Given the description of an element on the screen output the (x, y) to click on. 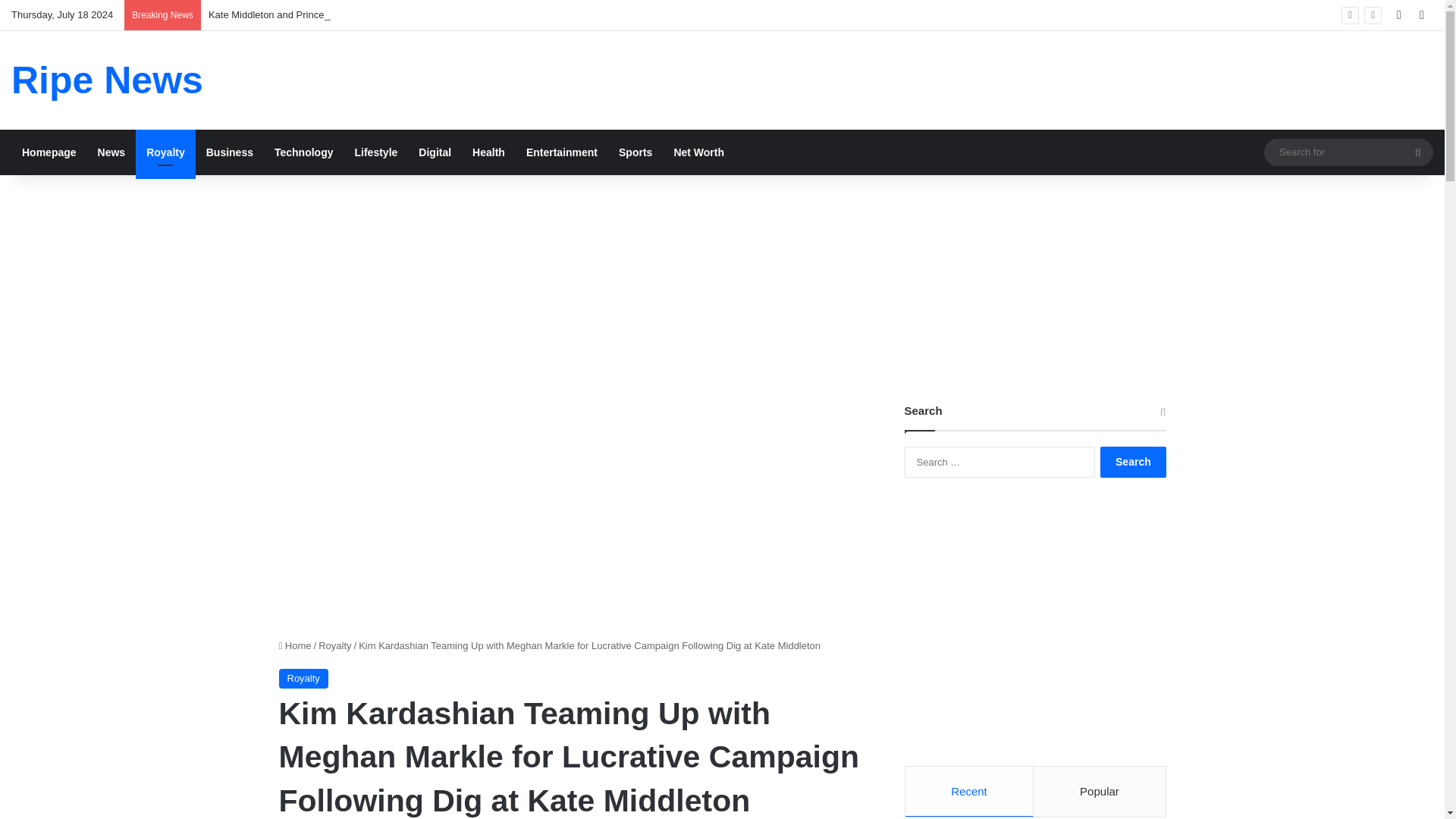
Ripe News (107, 80)
Ripe News (107, 80)
Search for (1417, 152)
Search (1133, 461)
Health (488, 152)
Royalty (304, 678)
Home (295, 645)
Advertisement (574, 508)
Entertainment (561, 152)
Royalty (165, 152)
Royalty (334, 645)
Digital (434, 152)
Lifestyle (376, 152)
Sports (635, 152)
Search (1133, 461)
